Given the description of an element on the screen output the (x, y) to click on. 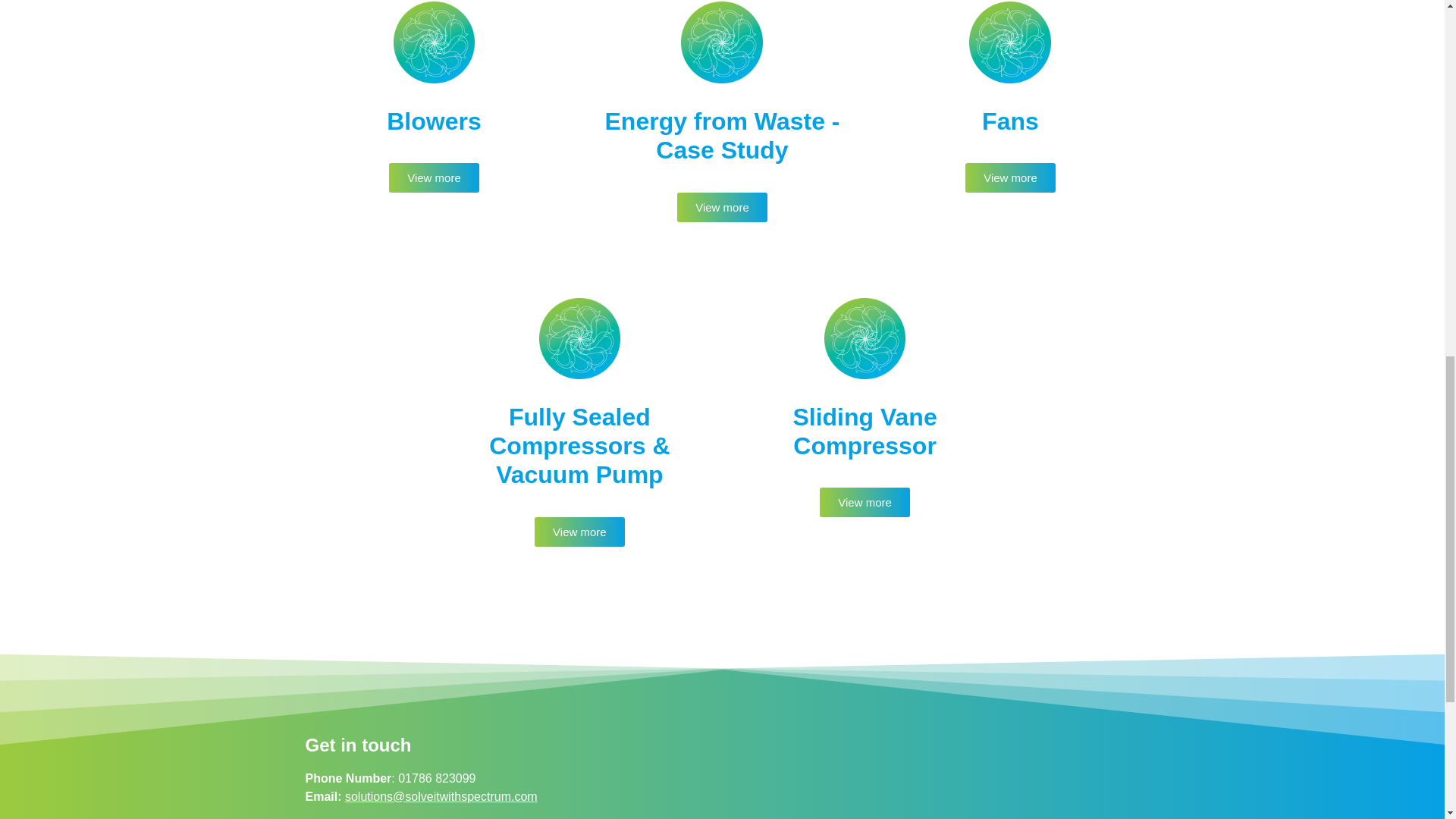
Energy from Waste - Case Study (722, 135)
Blowers (433, 121)
View more (433, 177)
